Given the description of an element on the screen output the (x, y) to click on. 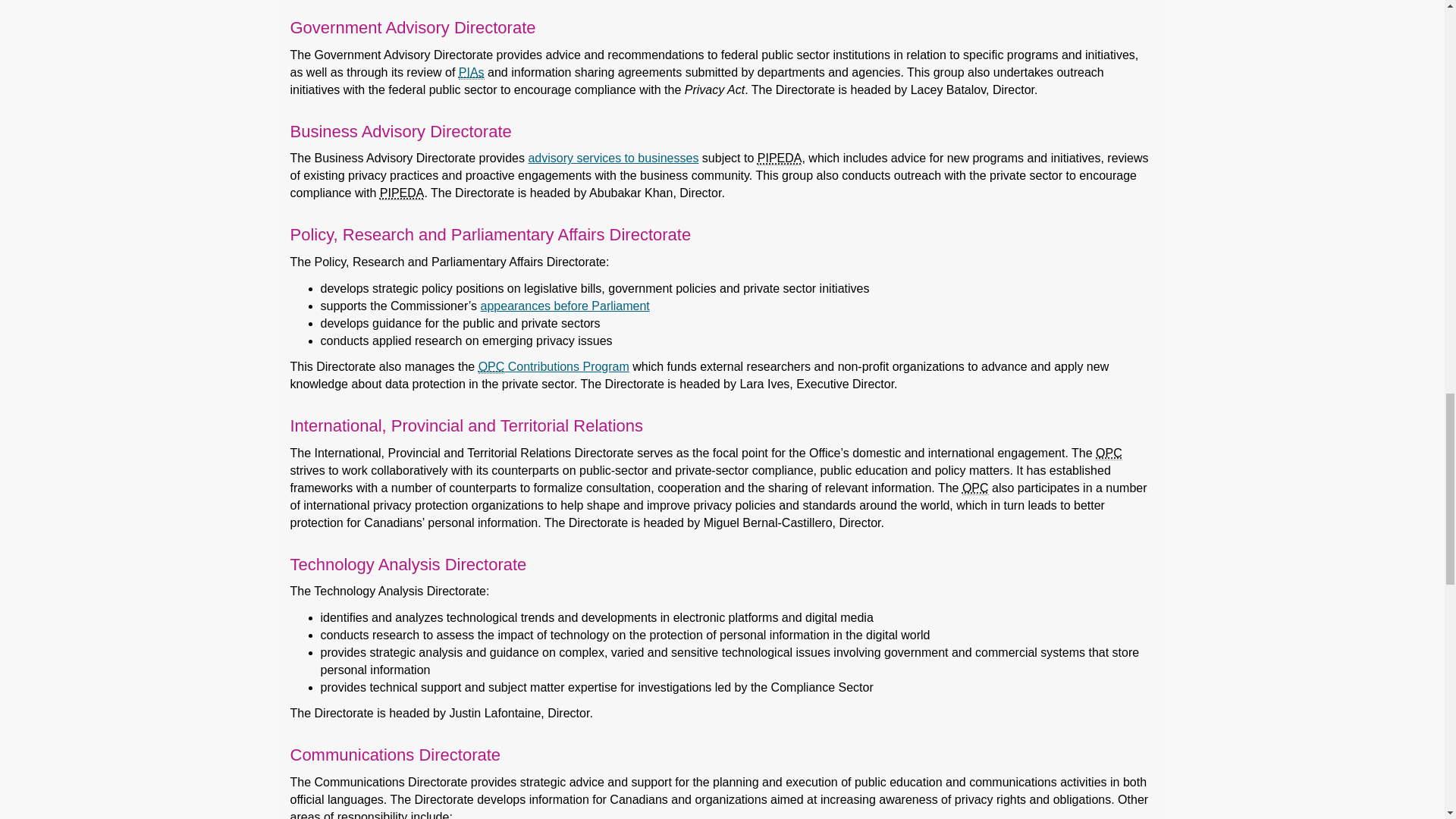
OPC Contributions Program (553, 366)
advisory services to businesses (612, 157)
PIAs (471, 72)
appearances before Parliament (564, 305)
